Given the description of an element on the screen output the (x, y) to click on. 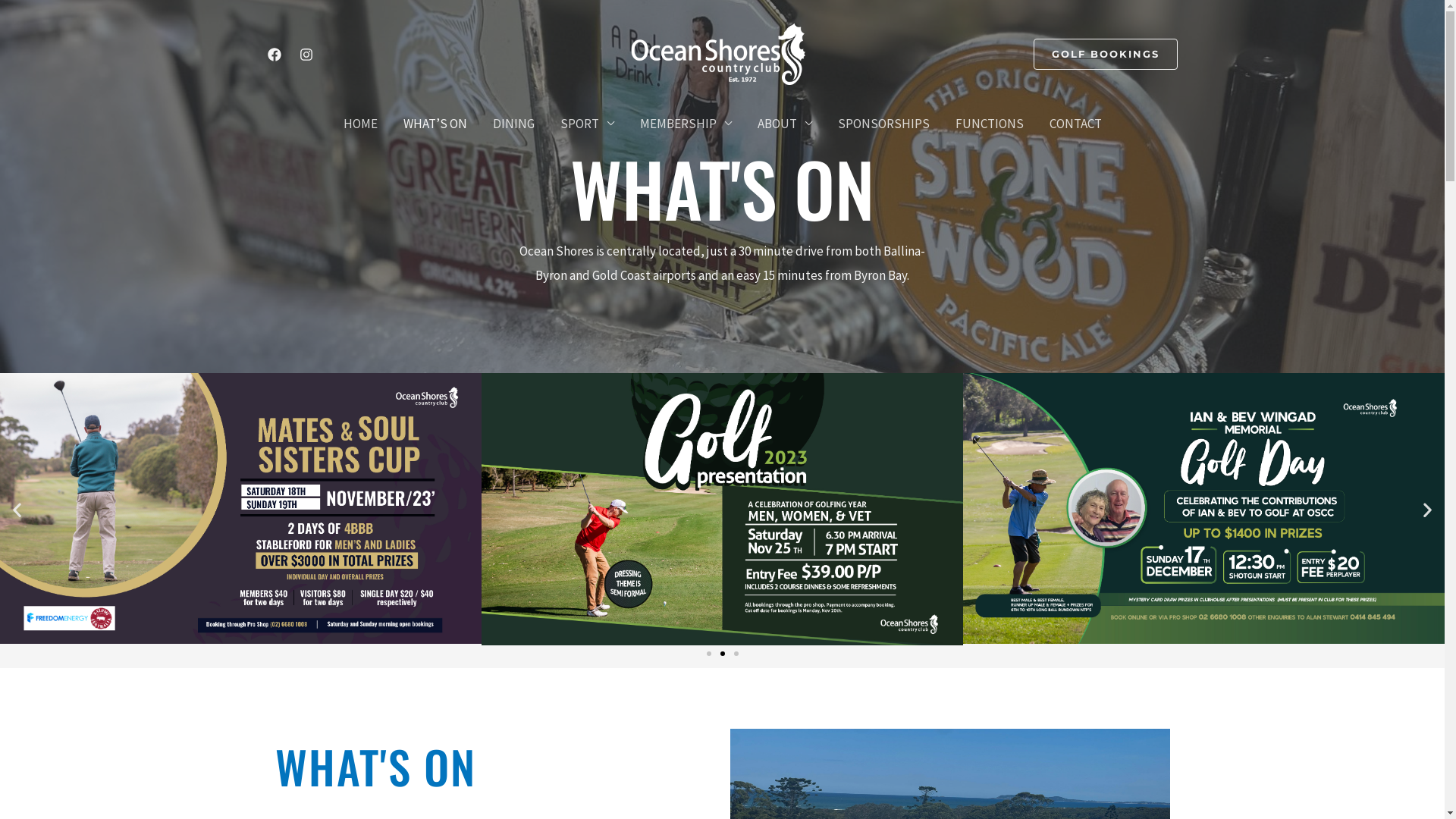
GOLF BOOKINGS Element type: text (1104, 53)
HOME Element type: text (360, 123)
MEMBERSHIP Element type: text (684, 123)
SPORT Element type: text (587, 123)
DINING Element type: text (512, 123)
SPONSORSHIPS Element type: text (883, 123)
ABOUT Element type: text (784, 123)
CONTACT Element type: text (1074, 123)
FUNCTIONS Element type: text (988, 123)
